Given the description of an element on the screen output the (x, y) to click on. 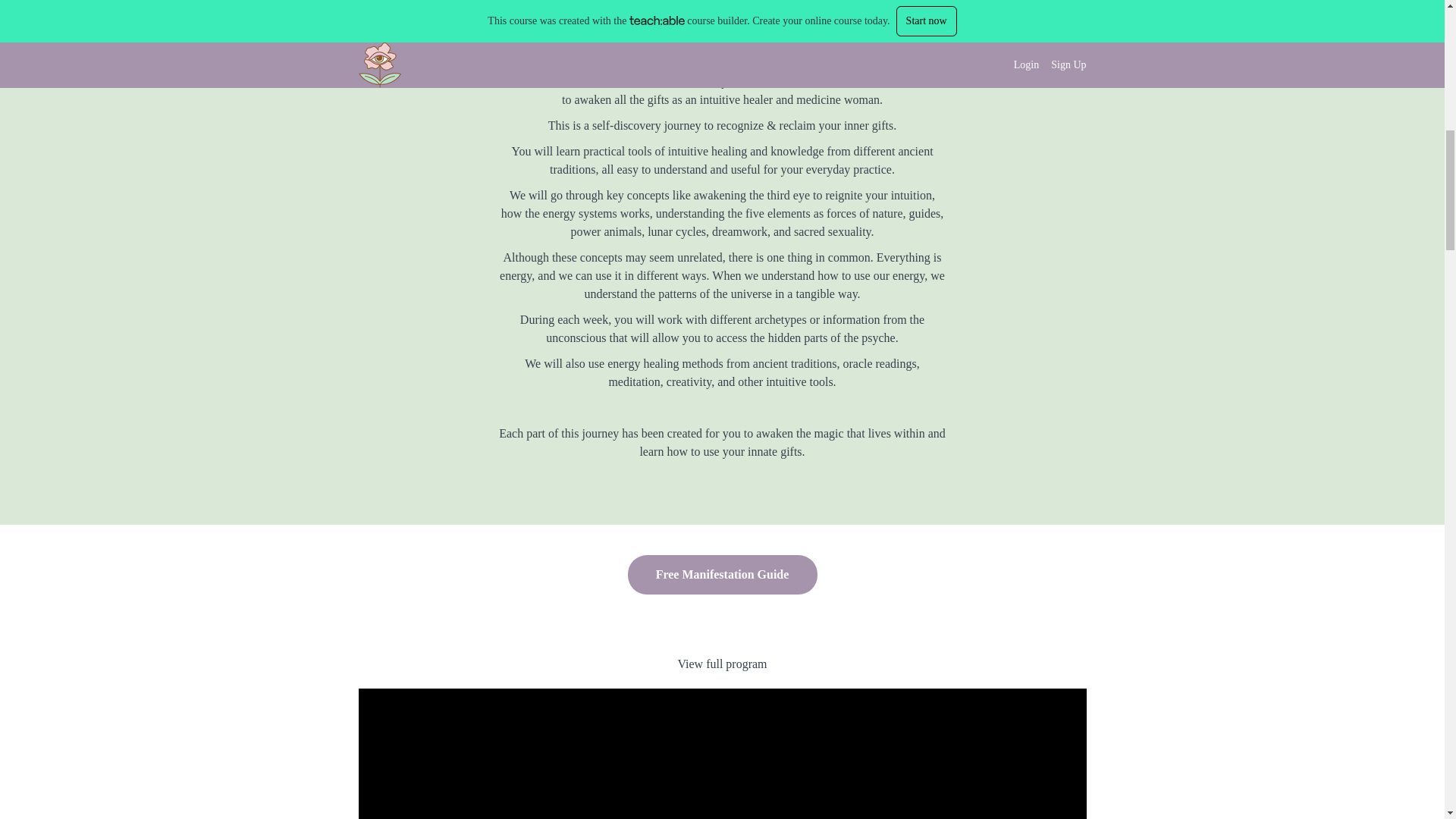
Free Manifestation Guide (721, 575)
Free Manifestation Guide (721, 574)
Video Player (722, 753)
